Given the description of an element on the screen output the (x, y) to click on. 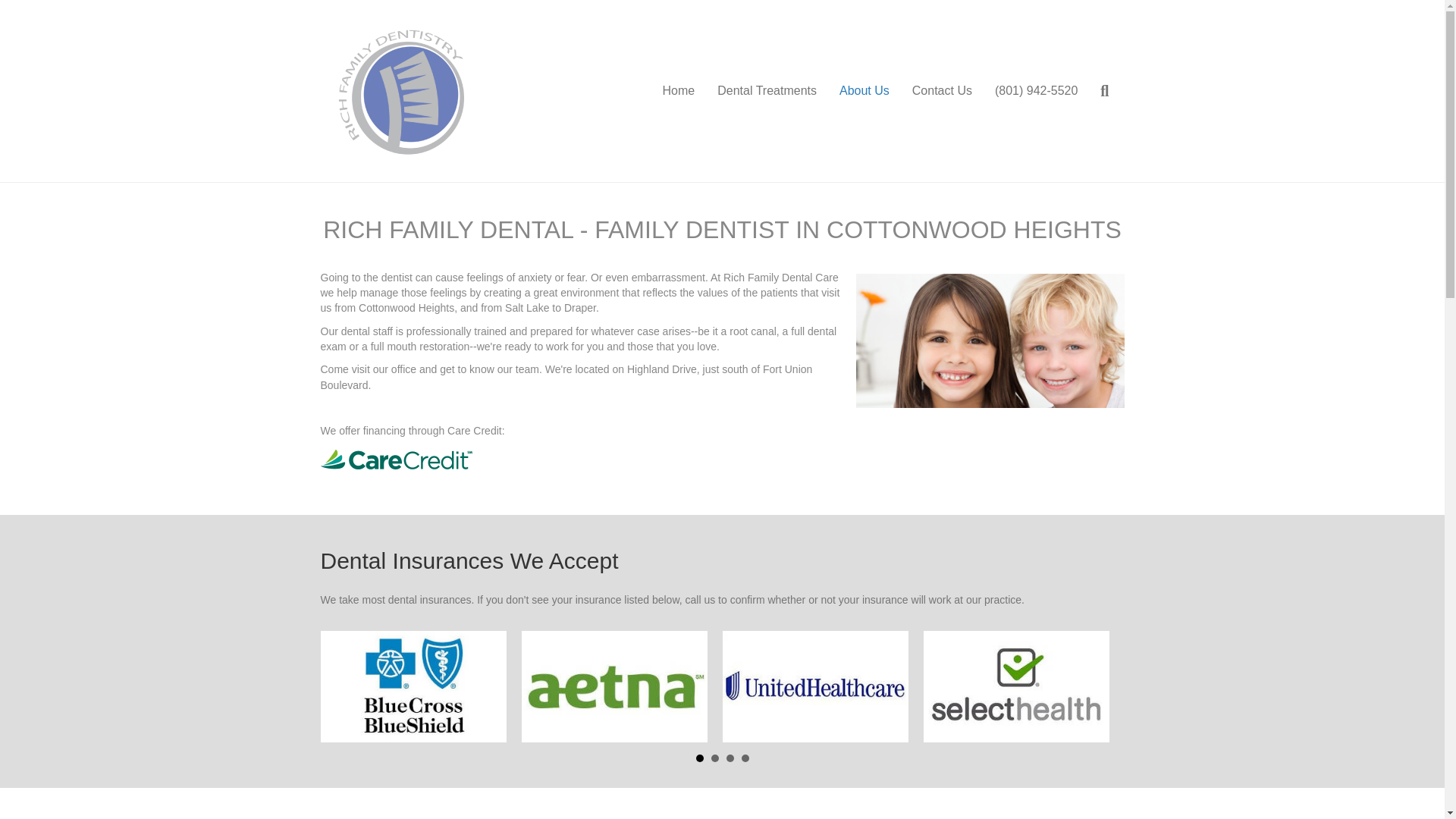
Dental Treatments (767, 90)
Contact Us (942, 90)
Home (678, 90)
About Us (864, 90)
